Given the description of an element on the screen output the (x, y) to click on. 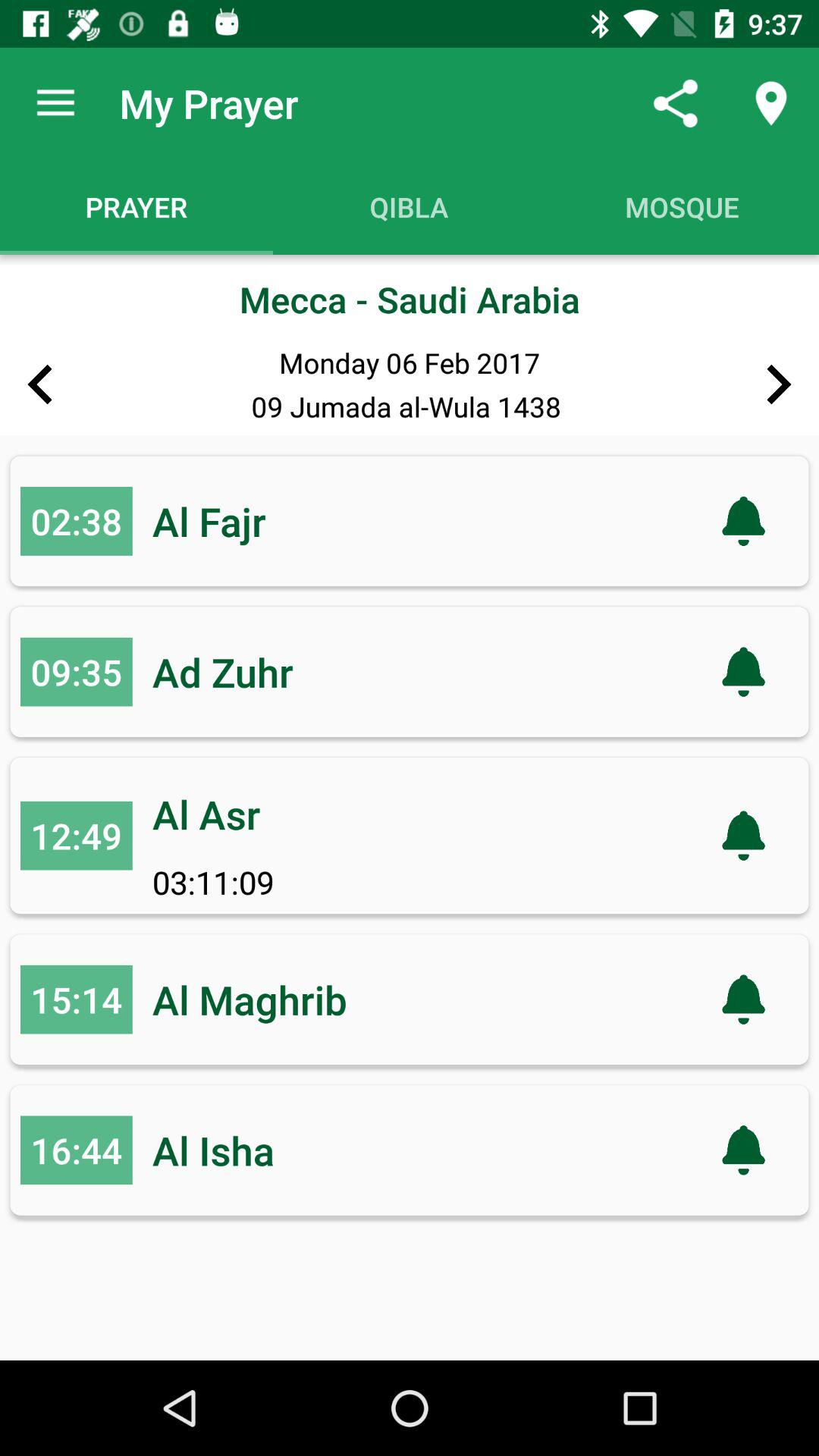
launch the app to the left of the my prayer item (55, 103)
